Given the description of an element on the screen output the (x, y) to click on. 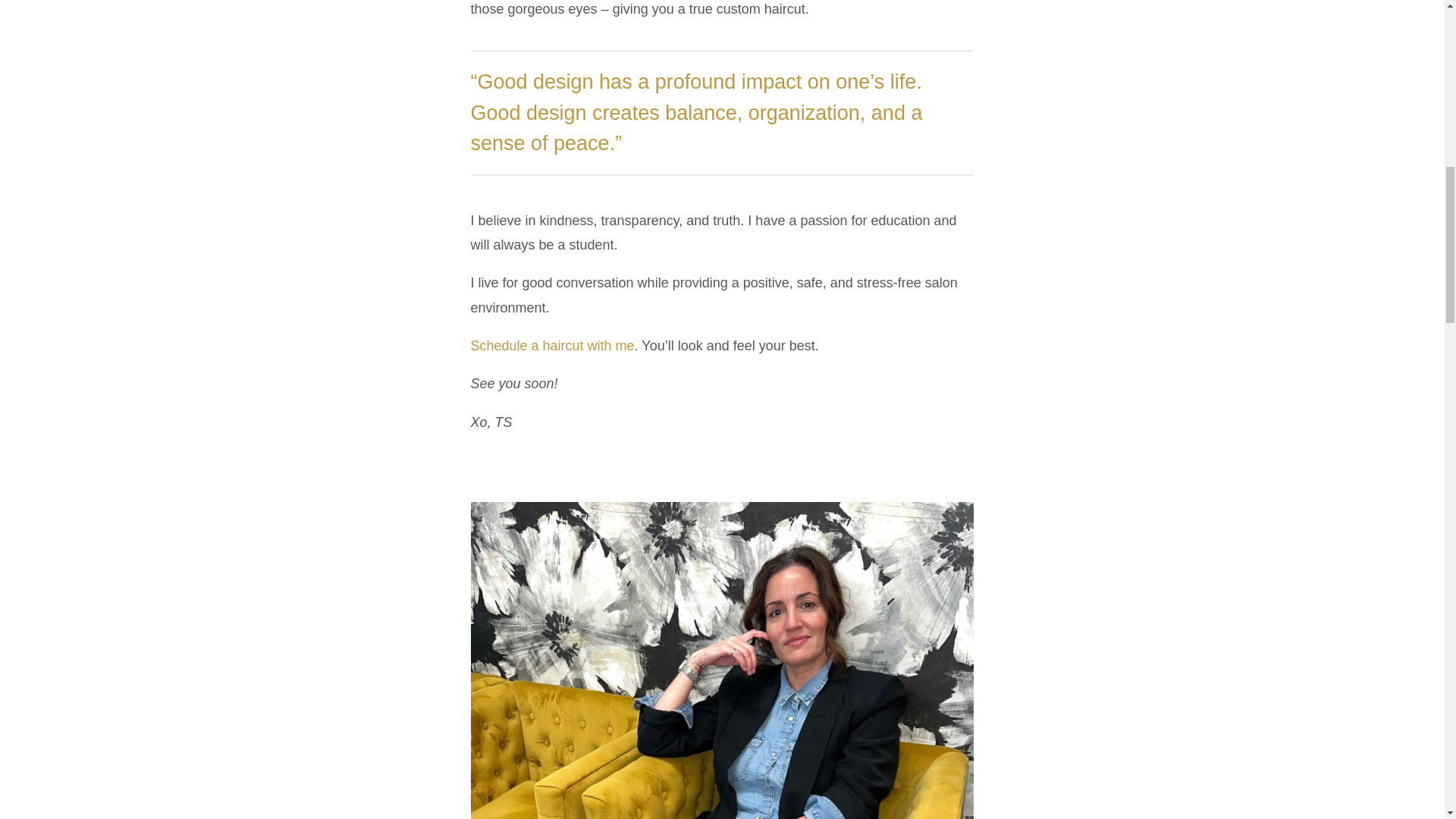
Schedule a haircut with me (551, 345)
